Given the description of an element on the screen output the (x, y) to click on. 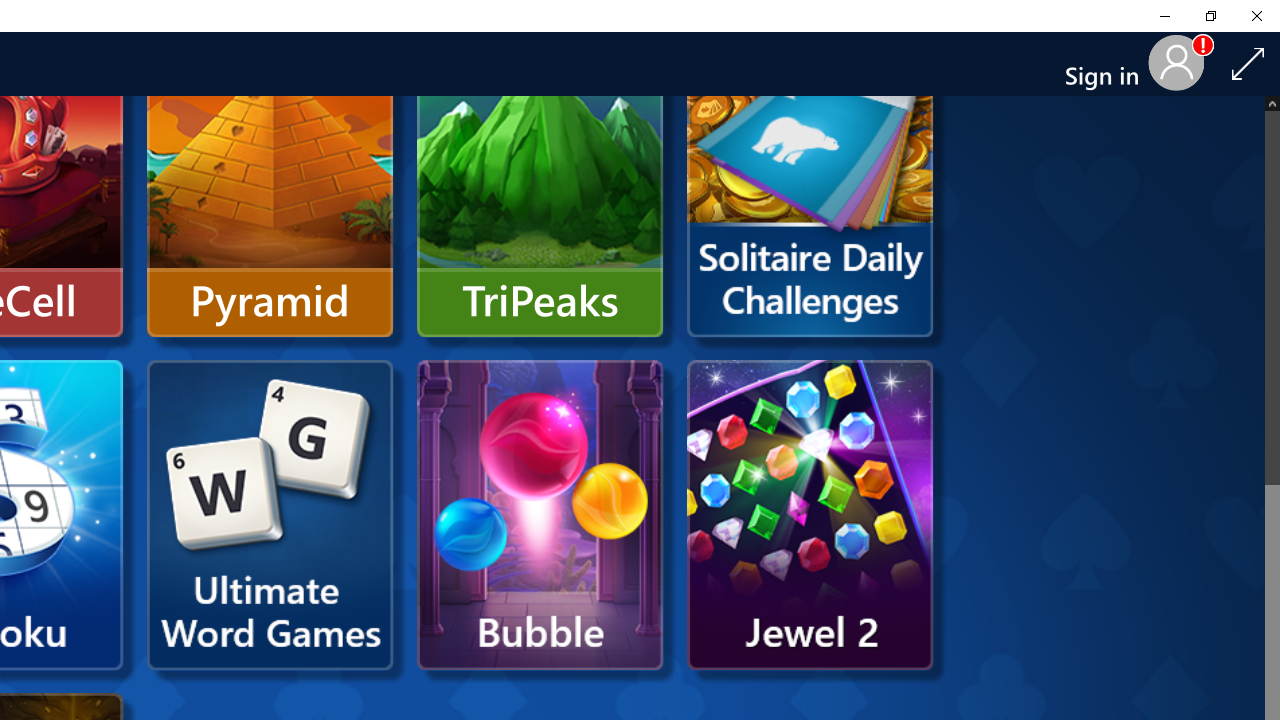
Sign in (1109, 64)
Microsoft Jewel 2 (810, 515)
AutomationID: up_arrow_0 (1272, 102)
Microsoft UWG (269, 515)
Challenges (810, 181)
TriPeaks (540, 181)
Restore Solitaire & Casual Games (1210, 15)
Pyramid (269, 181)
Microsoft Bubble (540, 515)
Close Solitaire & Casual Games (1256, 15)
Full Screen View (1248, 63)
Minimize Solitaire & Casual Games (1164, 15)
